Given the description of an element on the screen output the (x, y) to click on. 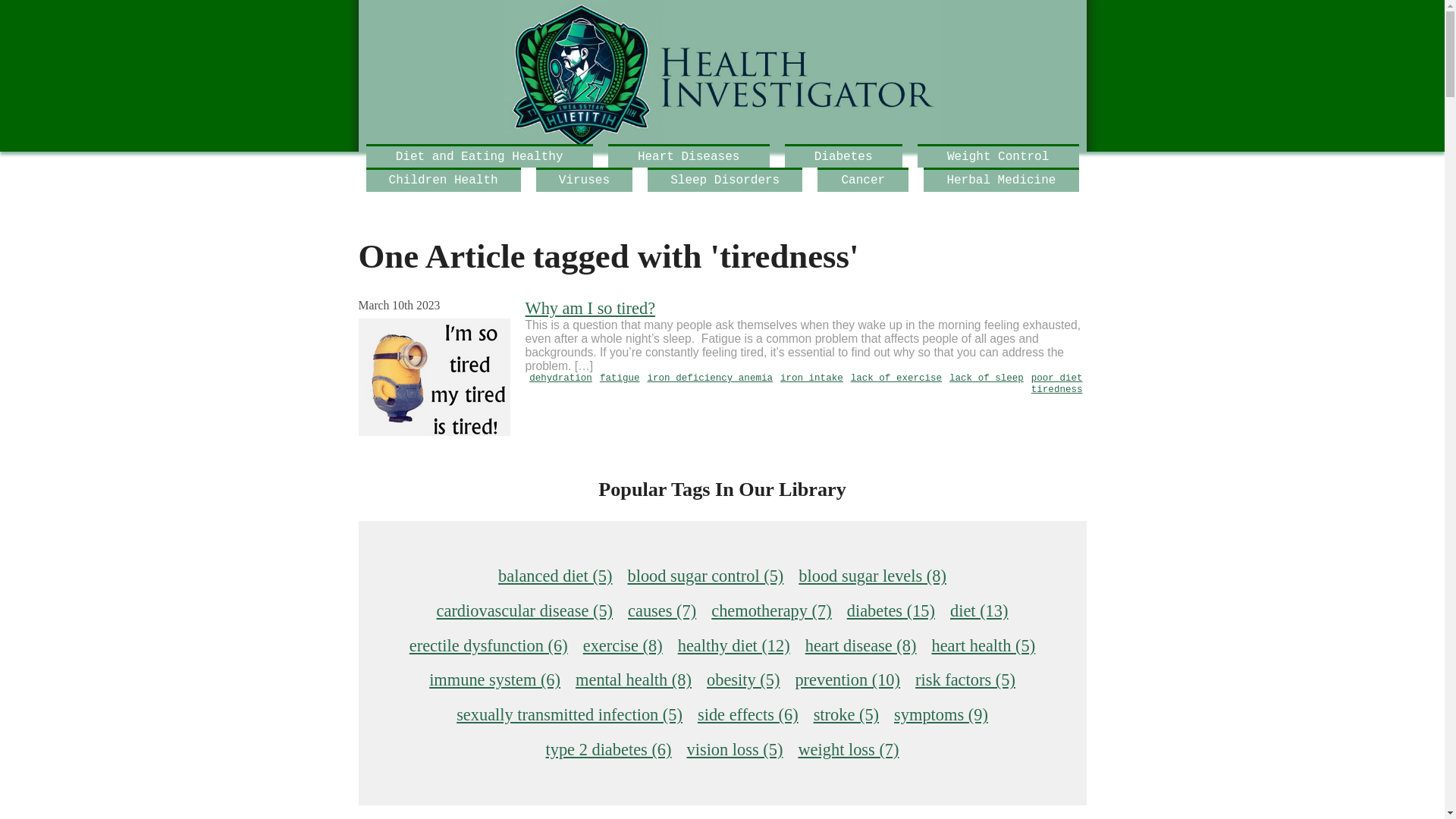
iron intake (811, 378)
Sleep Disorders (724, 178)
Herbal Medicine (1000, 178)
lack of exercise (896, 378)
Why am I so tired? (589, 307)
Heart Diseases (689, 155)
poor diet (1056, 378)
fatigue (619, 378)
Cancer (862, 178)
dehydration (560, 378)
